Given the description of an element on the screen output the (x, y) to click on. 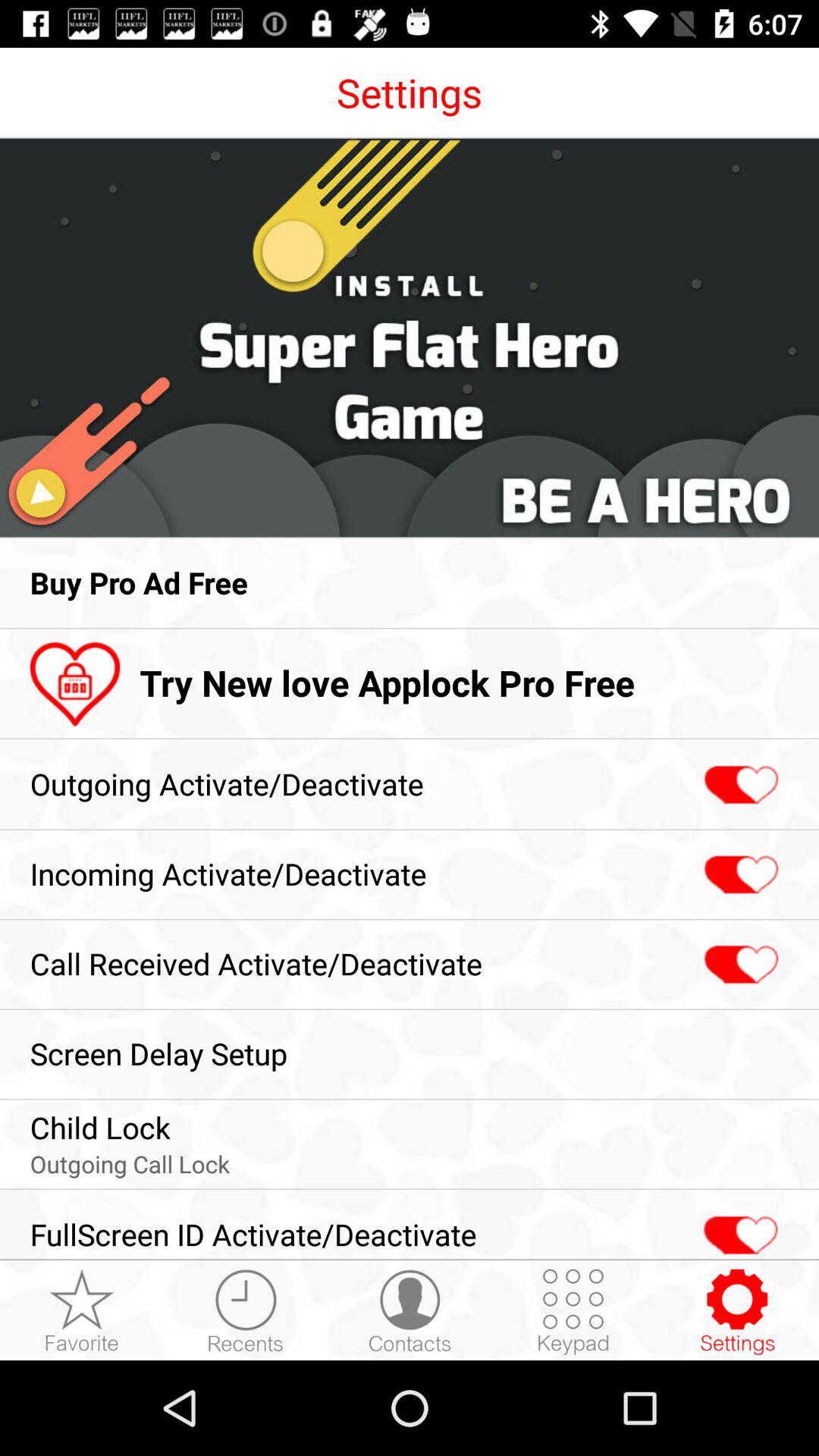
toggle call received (739, 964)
